Given the description of an element on the screen output the (x, y) to click on. 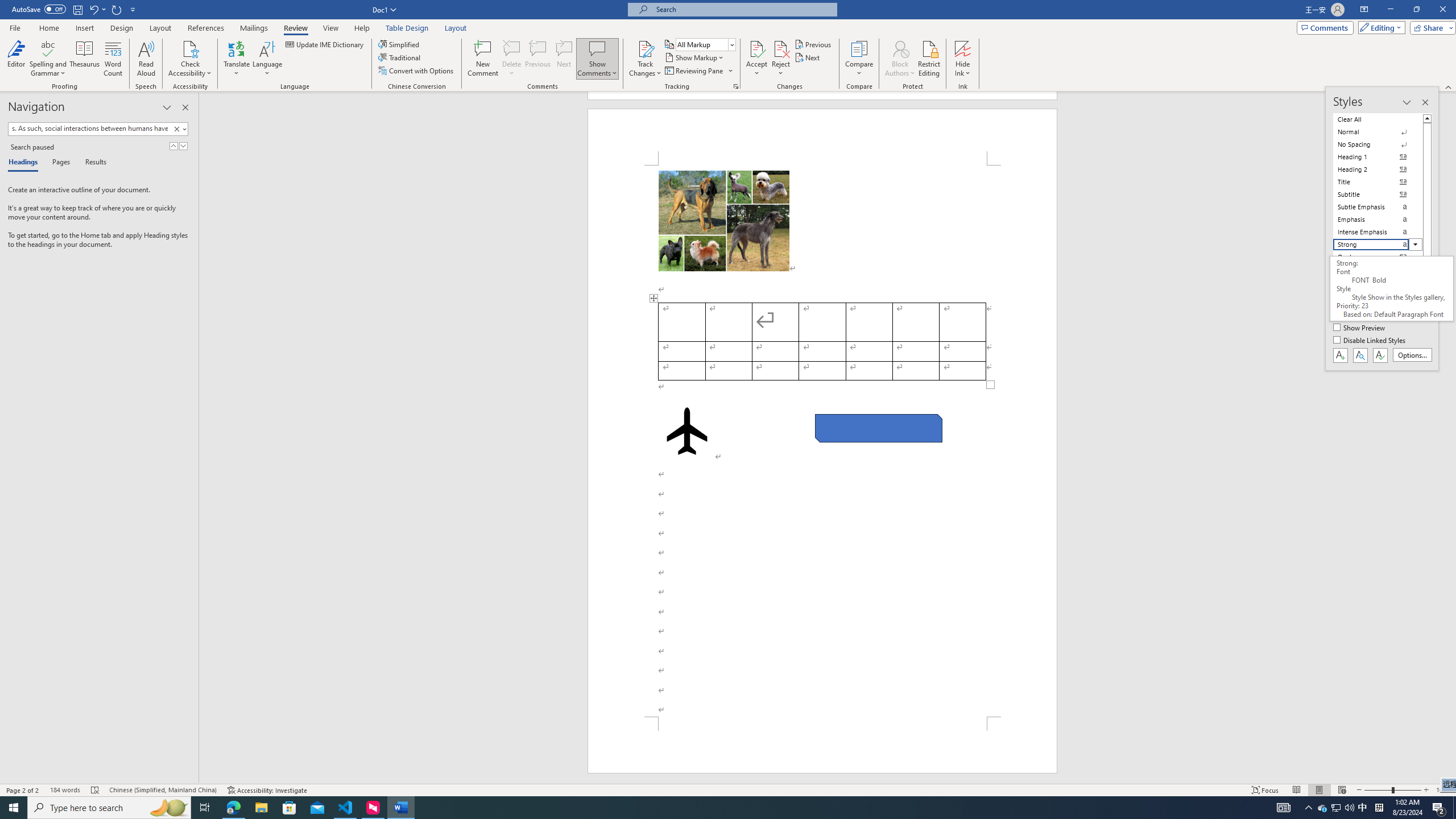
Pages (59, 162)
Morphological variation in six dogs (723, 220)
Block Authors (900, 48)
Title (1377, 182)
Display for Review (705, 44)
Simplified (400, 44)
Check Accessibility (189, 58)
Next (808, 56)
Zoom 104% (1443, 790)
Reviewing Pane (698, 69)
